Given the description of an element on the screen output the (x, y) to click on. 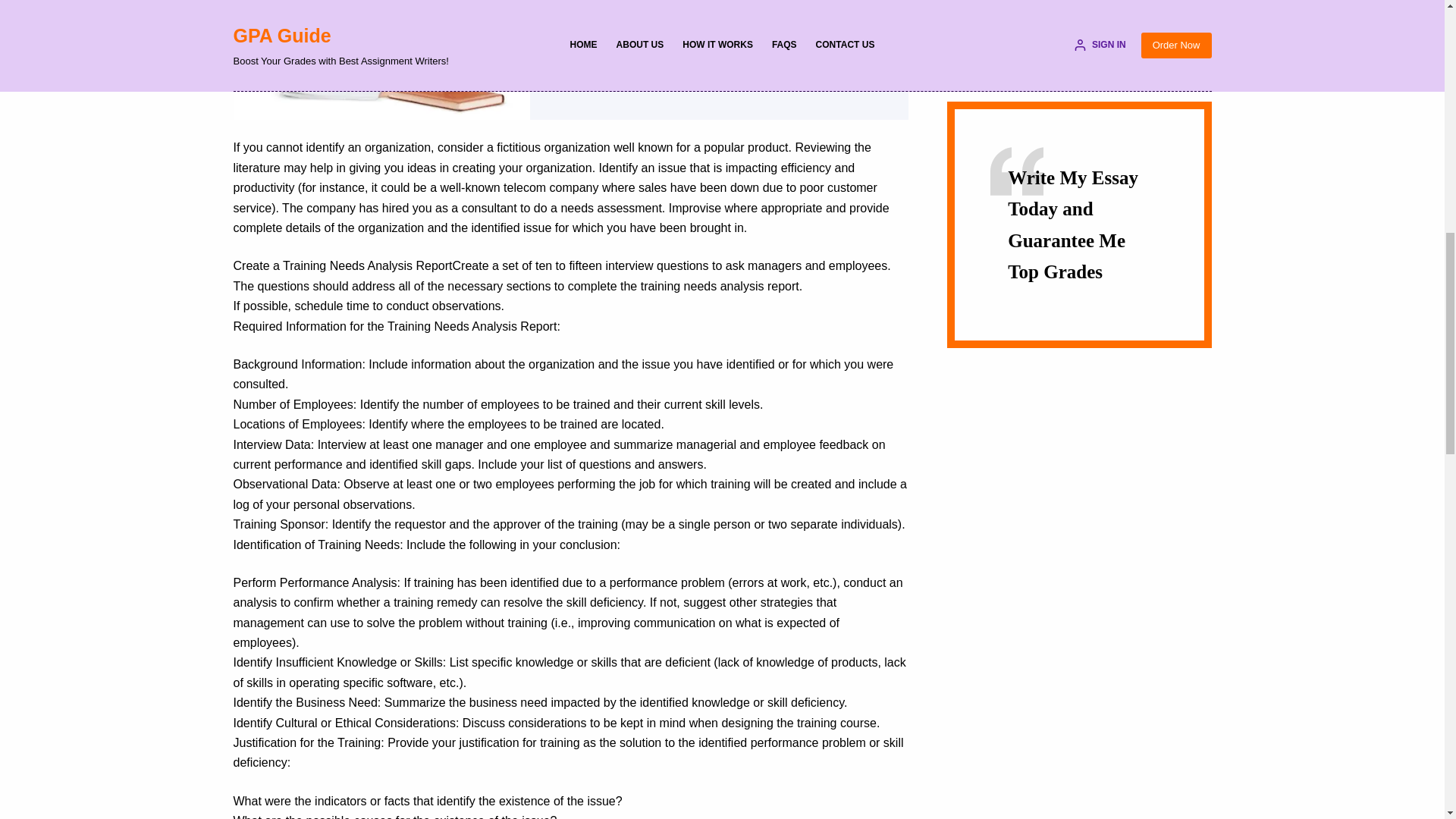
Write My Essay For Me (634, 29)
